Given the description of an element on the screen output the (x, y) to click on. 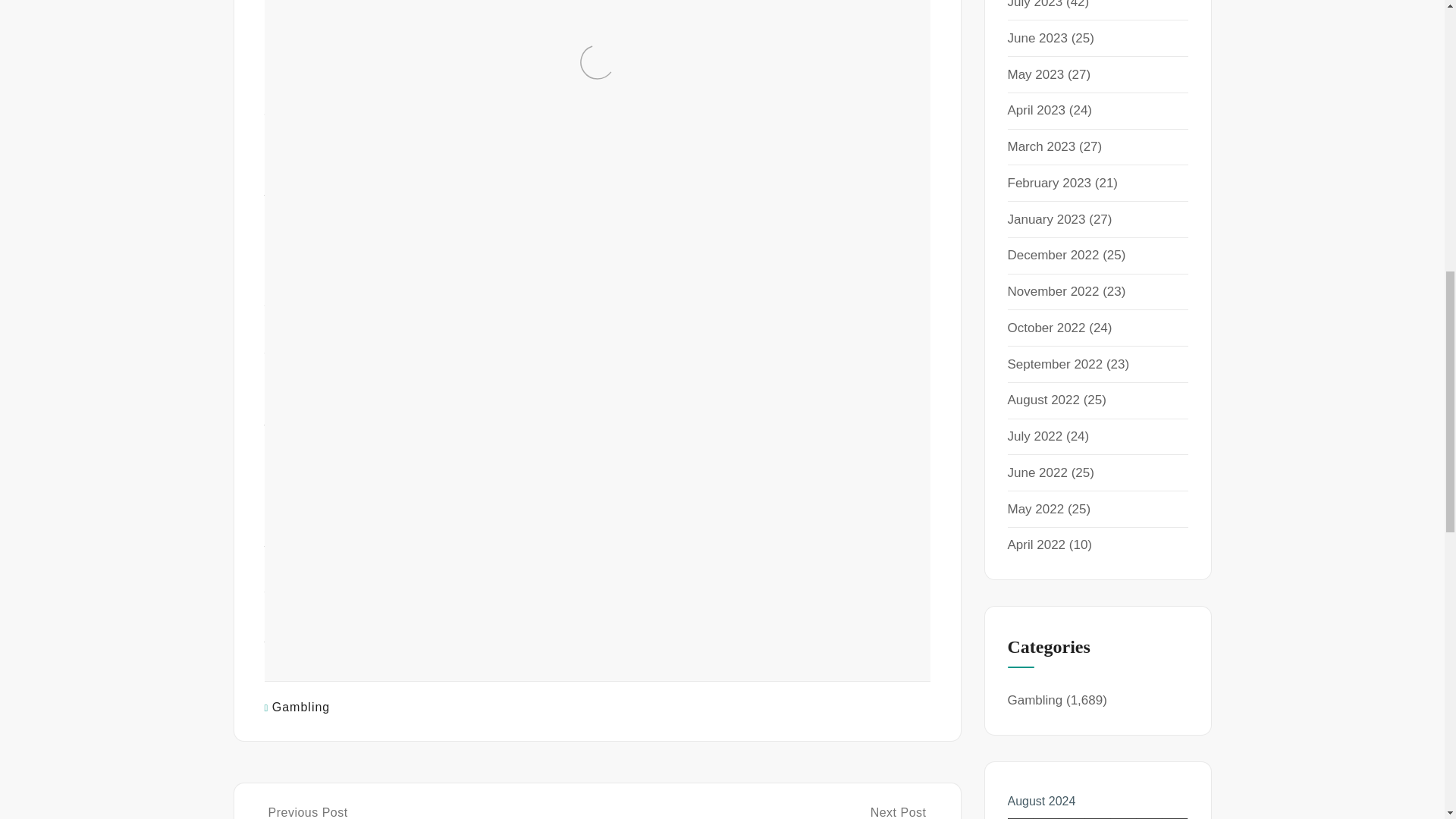
April 2023 (1036, 110)
January 2023 (1045, 219)
December 2022 (1053, 255)
October 2022 (1045, 327)
November 2022 (1053, 291)
